Given the description of an element on the screen output the (x, y) to click on. 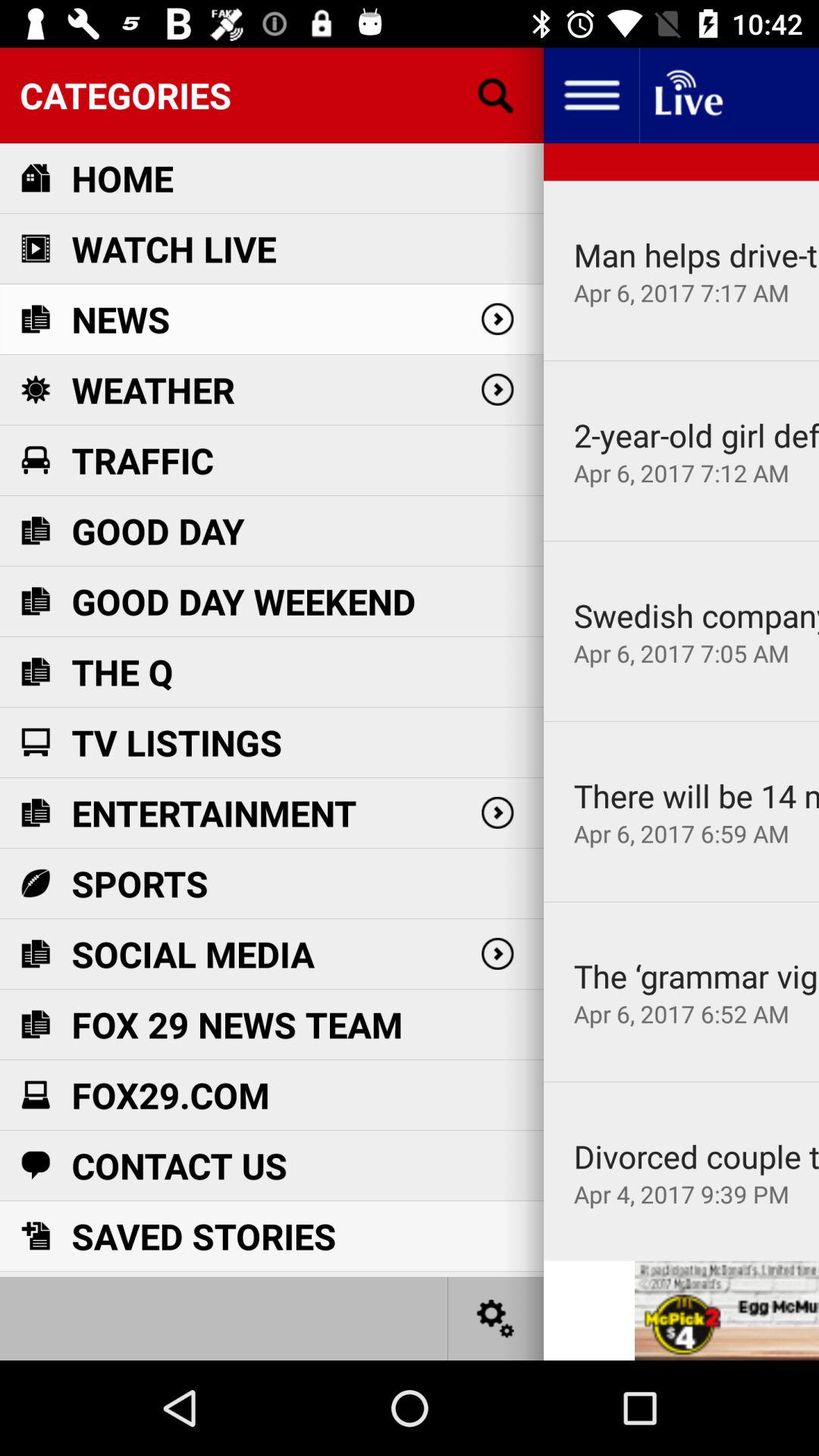
search the categories (495, 95)
